Given the description of an element on the screen output the (x, y) to click on. 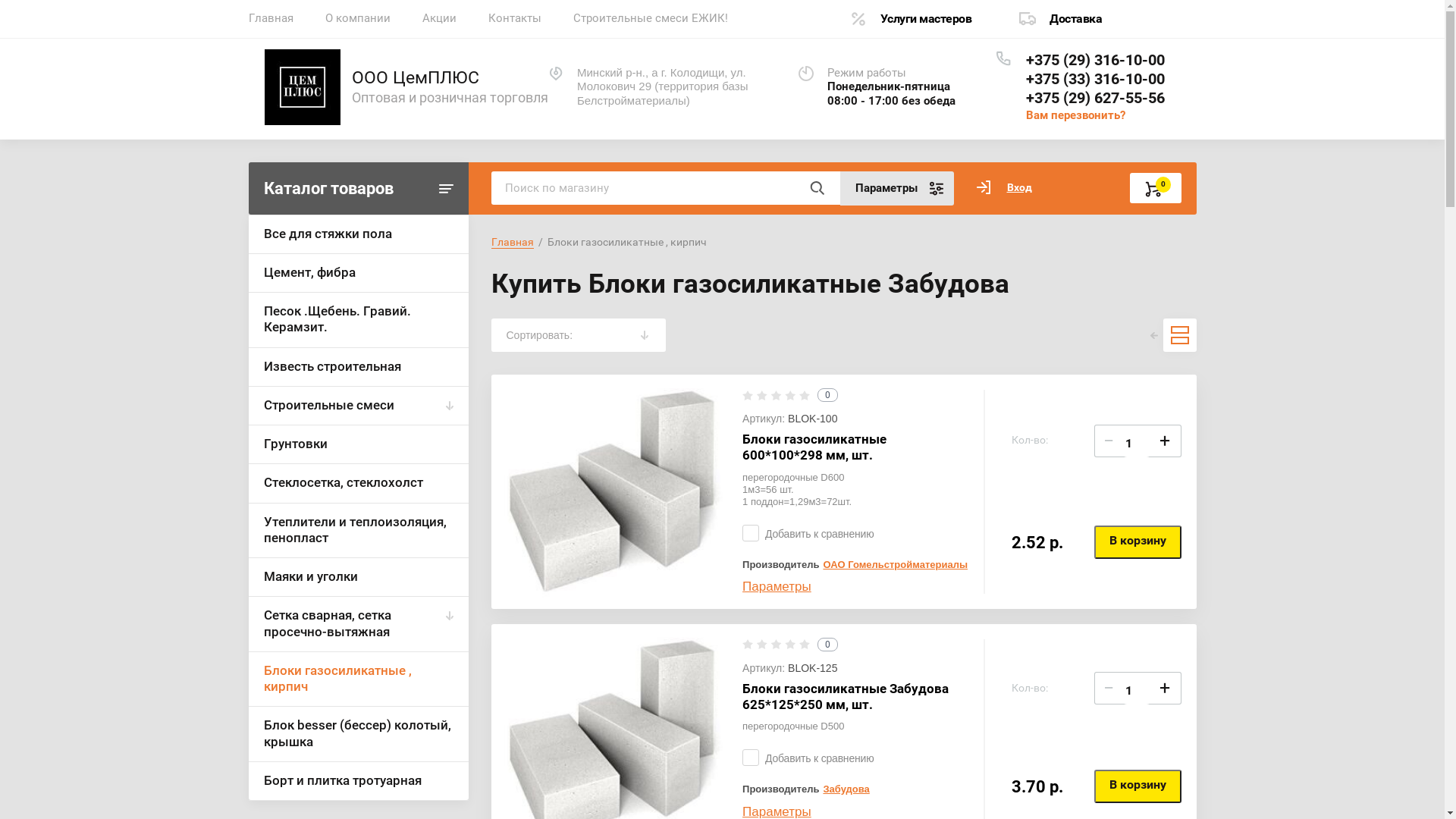
+375 (33) 316-10-00 Element type: text (1095, 78)
+ Element type: text (1163, 686)
0 Element type: text (1155, 187)
+ Element type: text (1163, 439)
+375 (29) 627-55-56 Element type: text (1095, 97)
  Element type: text (1179, 334)
+375 (29) 316-10-00 Element type: text (1095, 59)
  Element type: text (817, 187)
